Given the description of an element on the screen output the (x, y) to click on. 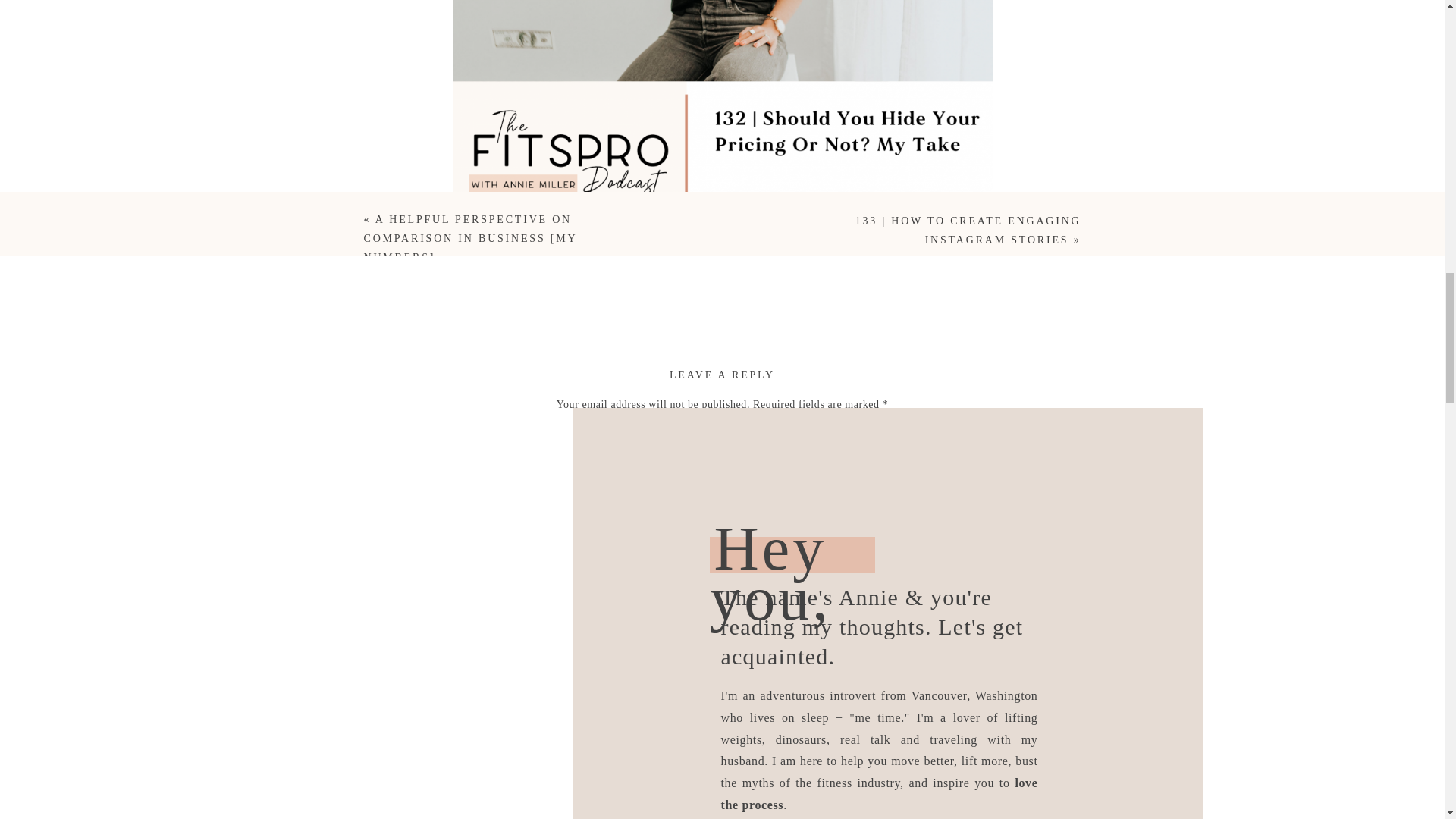
buylegion.com (529, 801)
yes (721, 705)
subscribe (643, 777)
subscribe (617, 749)
Post Comment (721, 813)
snag all the free resources (700, 400)
Post Comment (721, 813)
